Given the description of an element on the screen output the (x, y) to click on. 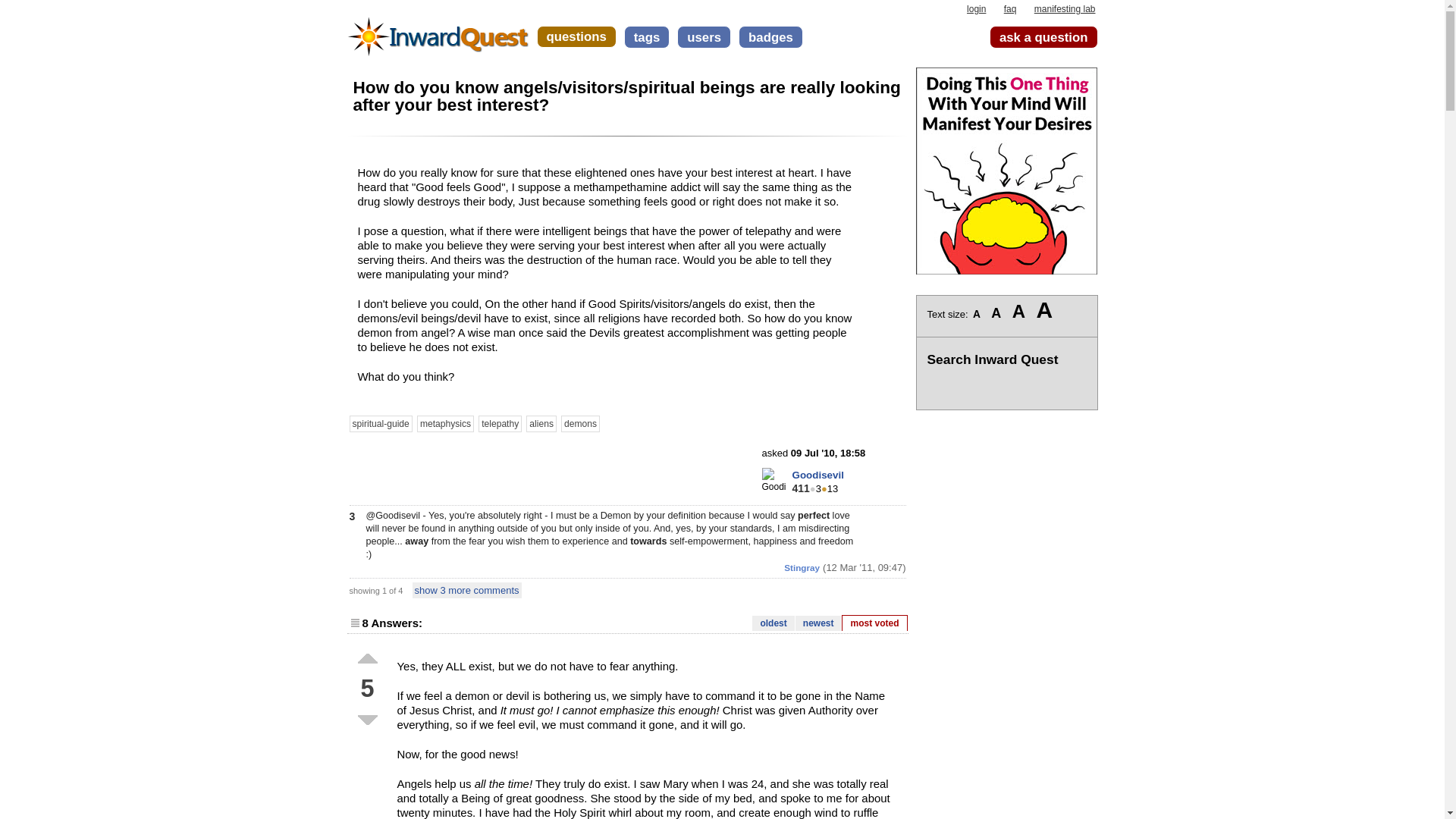
oldest (772, 622)
badges (770, 36)
see questions tagged 'spiritual-guide' (380, 423)
oldest answers will be shown first (772, 622)
13 badges (829, 488)
3 badges (815, 488)
show 3 more comments (465, 589)
login (975, 9)
aliens (540, 423)
metaphysics (445, 423)
newest (817, 622)
tags (646, 36)
see questions tagged 'telepathy' (500, 423)
see questions tagged 'aliens' (540, 423)
back to home page (438, 30)
